Given the description of an element on the screen output the (x, y) to click on. 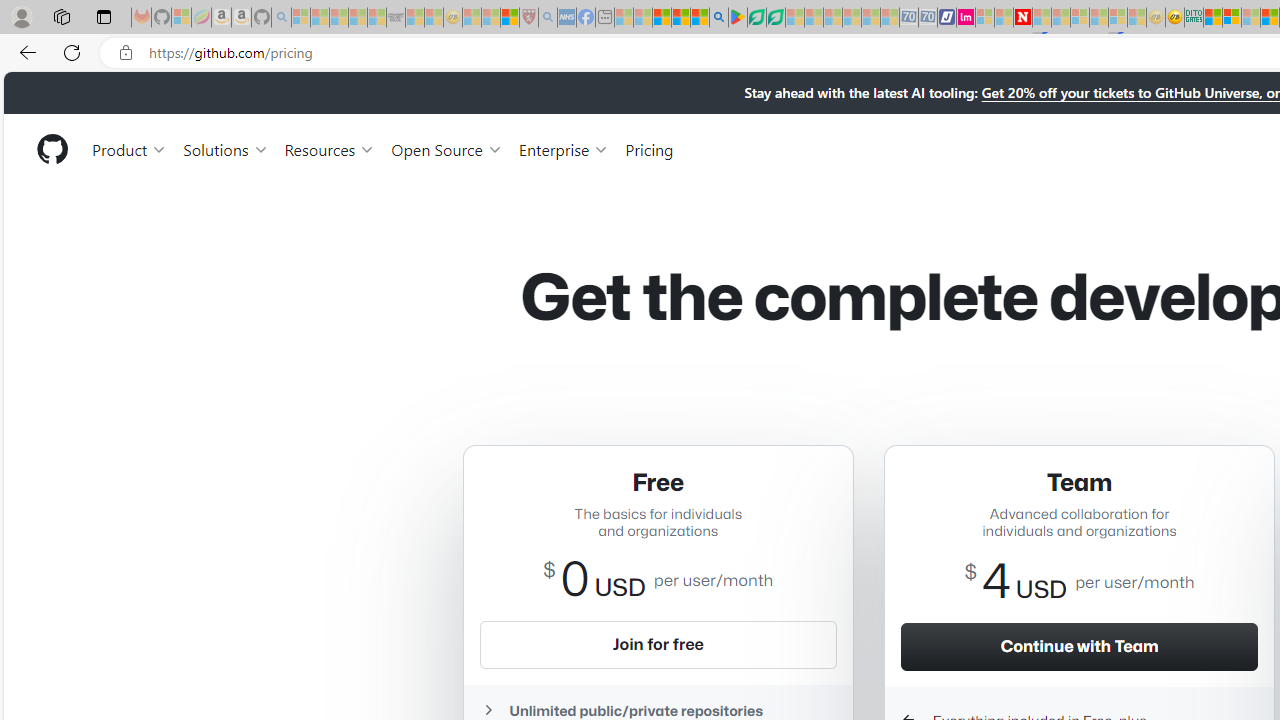
Solutions (225, 148)
Microsoft Word - consumer-privacy address update 2.2021 (775, 17)
Continue with Team (1079, 646)
Product (130, 148)
